Given the description of an element on the screen output the (x, y) to click on. 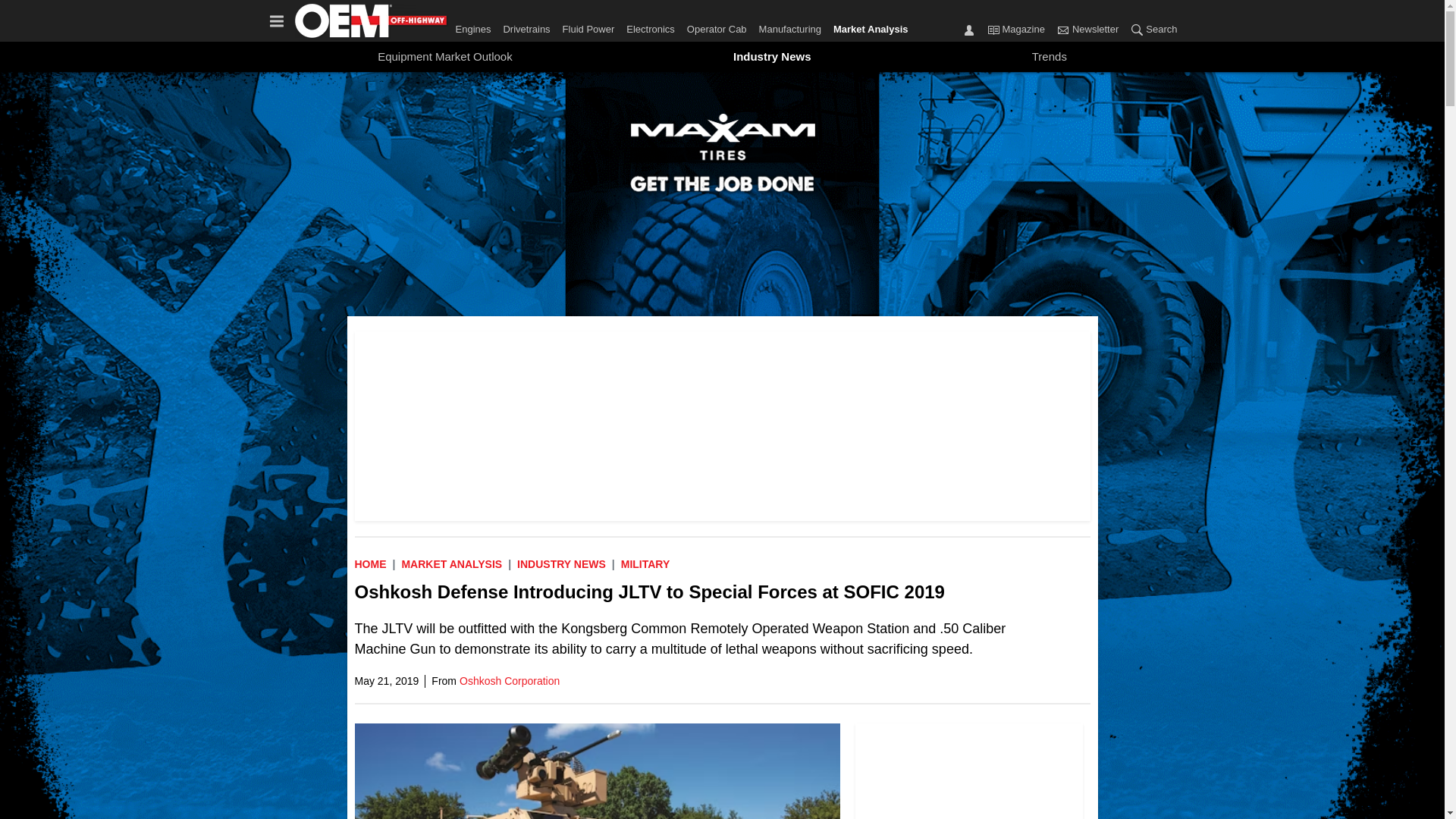
Operator Cab (716, 26)
Market Analysis (451, 563)
Home (371, 563)
Magazine (1016, 29)
Sign In (968, 29)
Industry News (771, 56)
Electronics (650, 26)
Manufacturing (789, 26)
Newsletter (1062, 29)
